Given the description of an element on the screen output the (x, y) to click on. 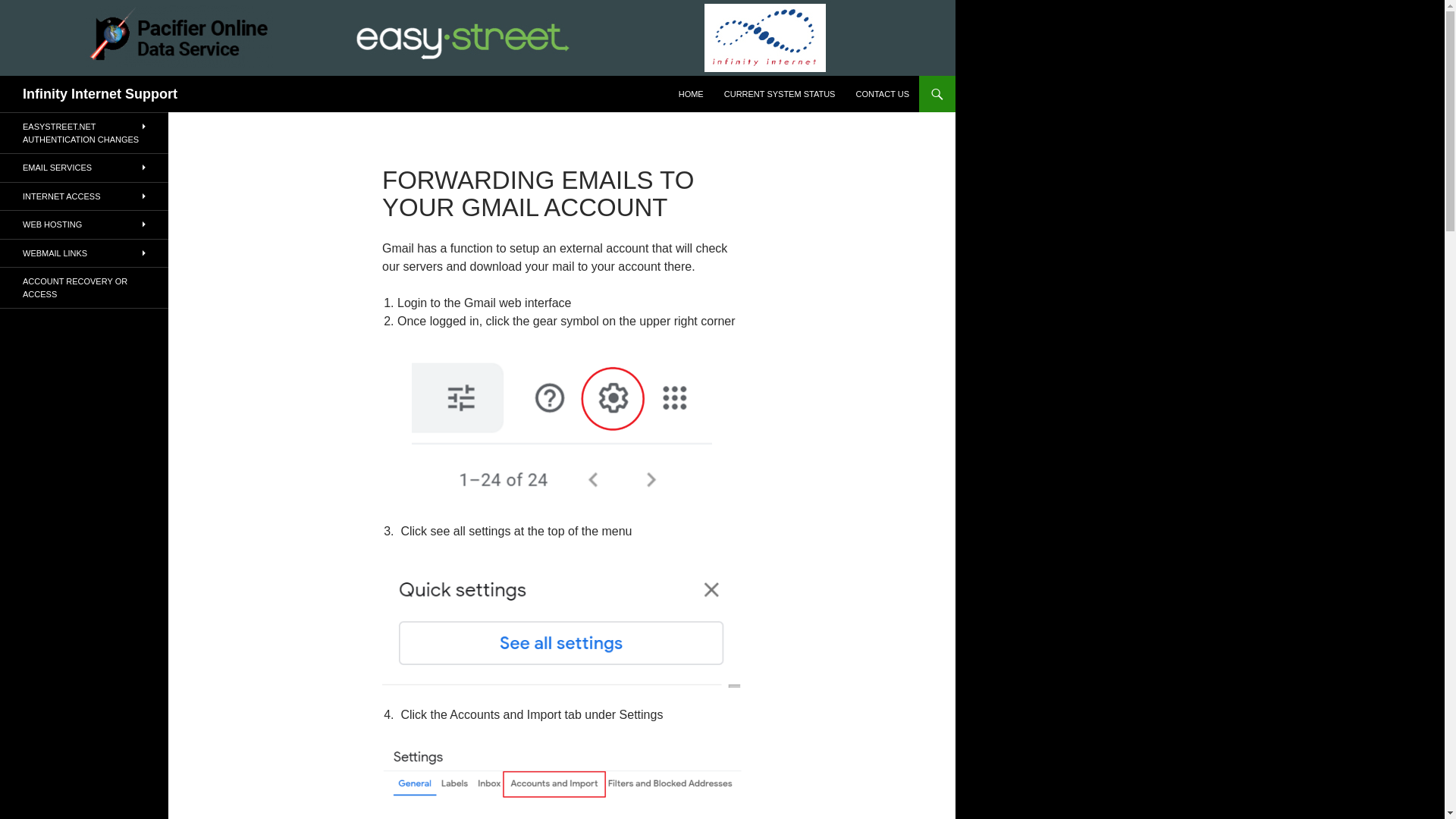
Infinity Internet Support (100, 94)
HOME (691, 94)
EASYSTREET.NET AUTHENTICATION CHANGES (84, 133)
WEB HOSTING (84, 224)
EMAIL SERVICES (84, 167)
CURRENT SYSTEM STATUS (779, 94)
INTERNET ACCESS (84, 195)
CONTACT US (881, 94)
